Given the description of an element on the screen output the (x, y) to click on. 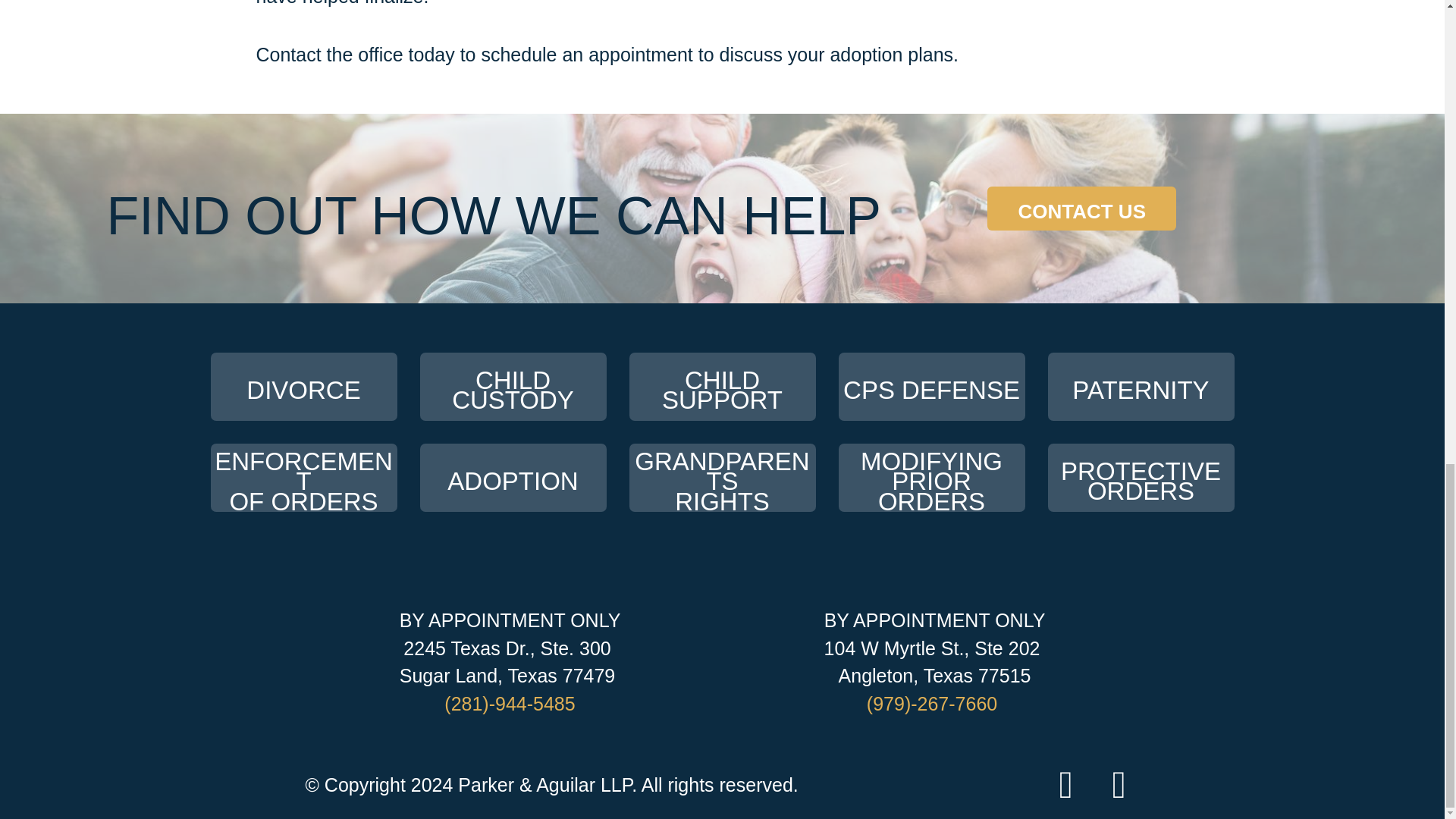
Linkedin (1065, 784)
CPS DEFENSE (931, 477)
CONTACT US (304, 477)
DIVORCE (931, 386)
CHILD SUPPORT (1081, 208)
CHILD CUSTODY (304, 386)
PATERNITY (721, 386)
ADOPTION (513, 386)
Facebook (1141, 477)
